Given the description of an element on the screen output the (x, y) to click on. 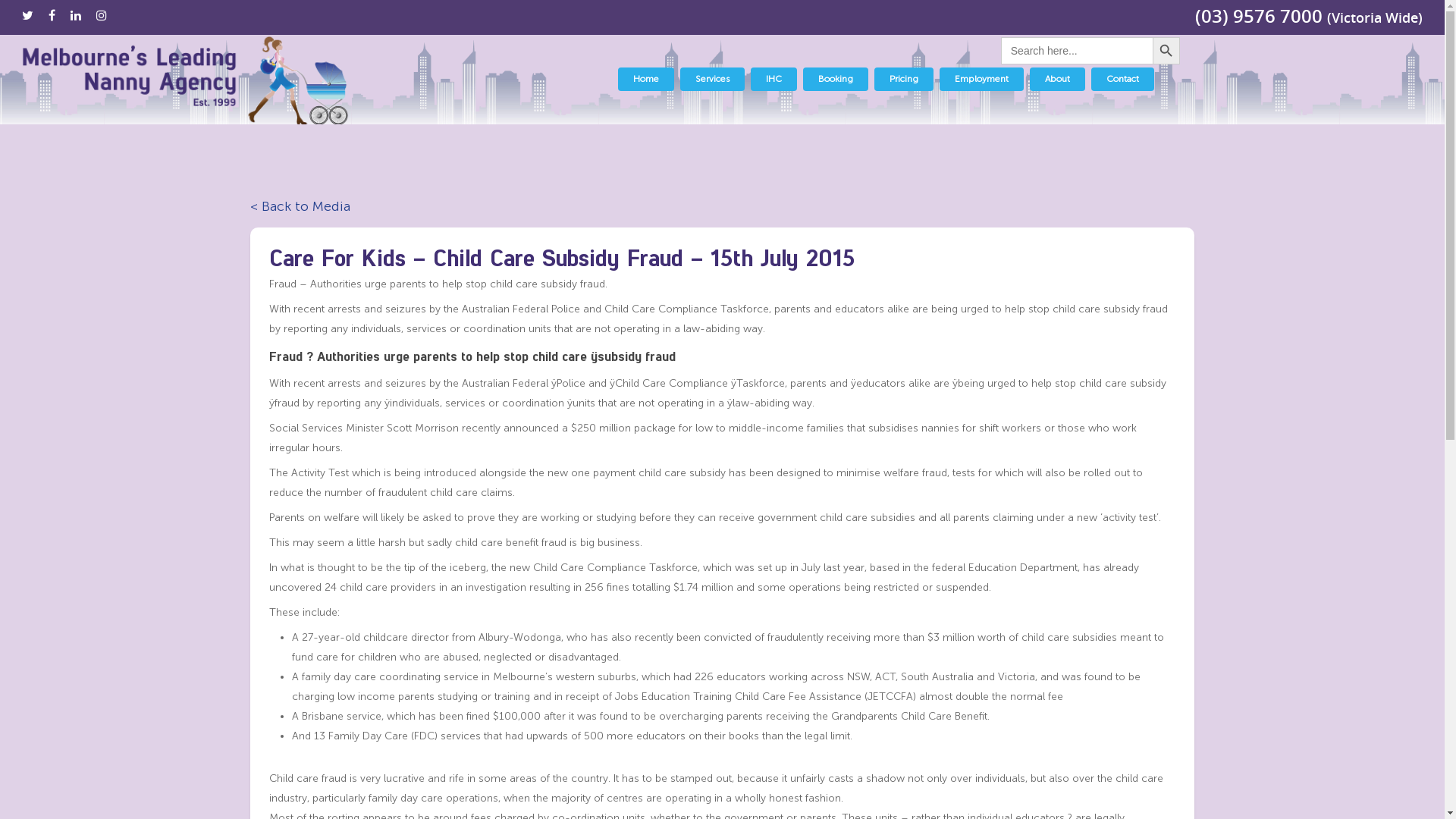
Employment Element type: text (981, 78)
Contact Element type: text (1122, 78)
Pricing Element type: text (903, 78)
Home Element type: text (646, 78)
(03) 9576 7000 (Victoria Wide) Element type: text (1308, 17)
Services Element type: text (712, 78)
Search Button Element type: text (1165, 50)
IHC Element type: text (773, 78)
Booking Element type: text (835, 78)
< Back to Media Element type: text (722, 206)
About Element type: text (1057, 78)
